Given the description of an element on the screen output the (x, y) to click on. 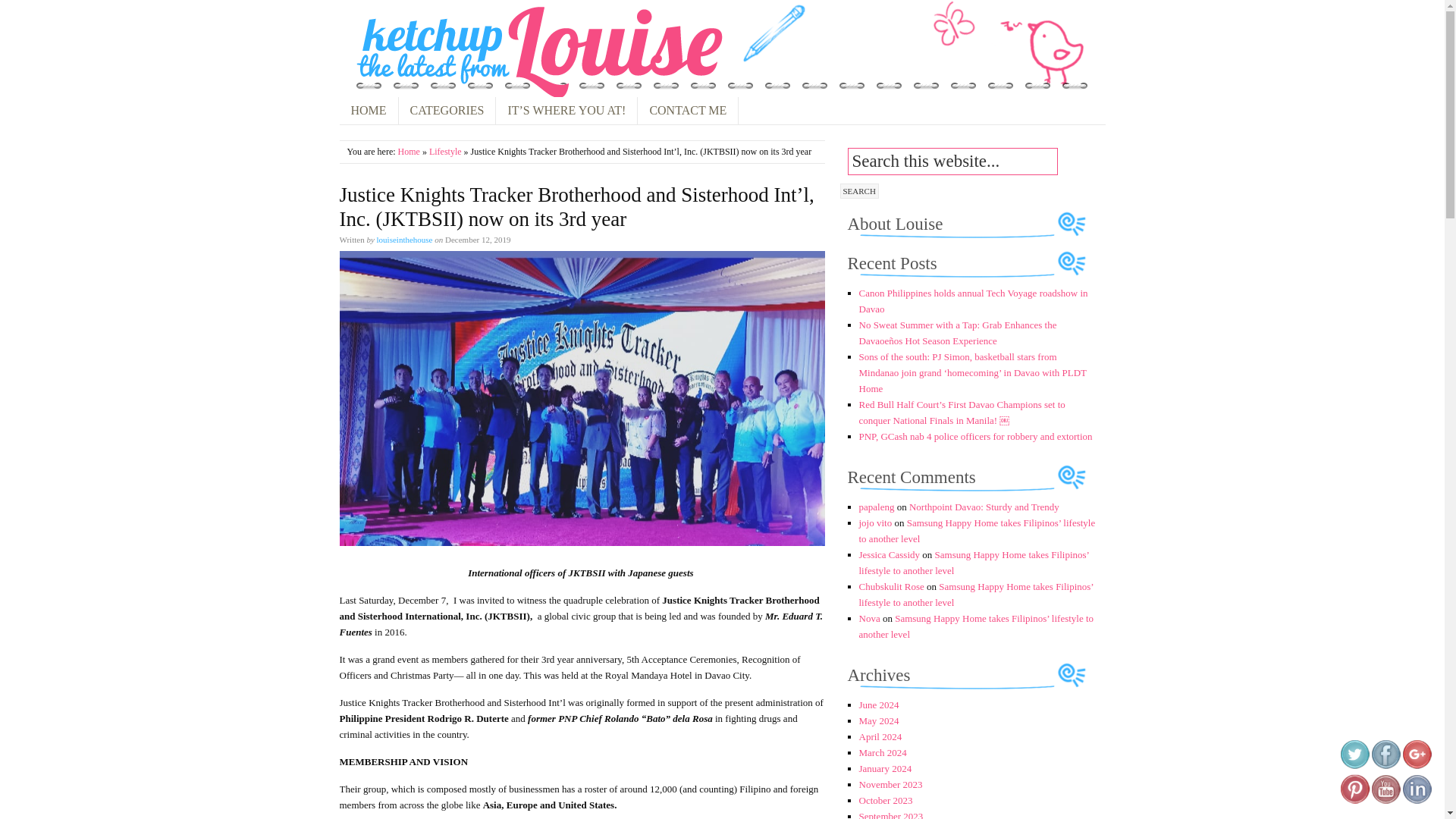
Visit Us On Pinterest (1354, 800)
SEARCH (859, 191)
HOME (368, 110)
Nova (869, 618)
April 2024 (880, 736)
Visit Us On Twitter (1354, 766)
Ketchup the Latest from Louise (535, 52)
jojo vito (875, 522)
Home (408, 151)
Chubskulit Rose (891, 586)
Northpoint Davao: Sturdy and Trendy (983, 506)
SEARCH (859, 191)
louiseinthehouse (404, 239)
Lifestyle (445, 151)
SEARCH (859, 191)
